Given the description of an element on the screen output the (x, y) to click on. 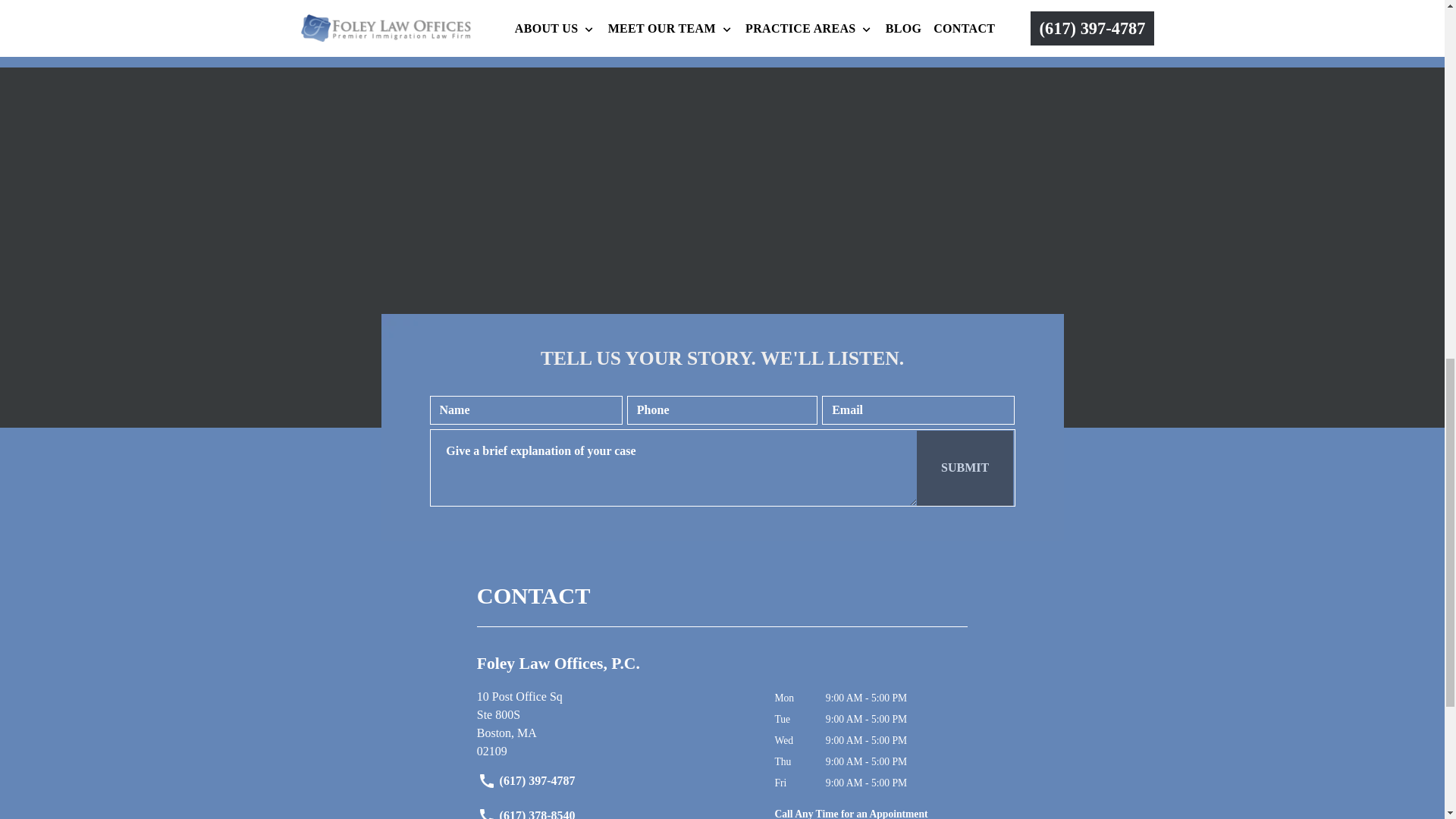
SUBMIT (614, 723)
